Given the description of an element on the screen output the (x, y) to click on. 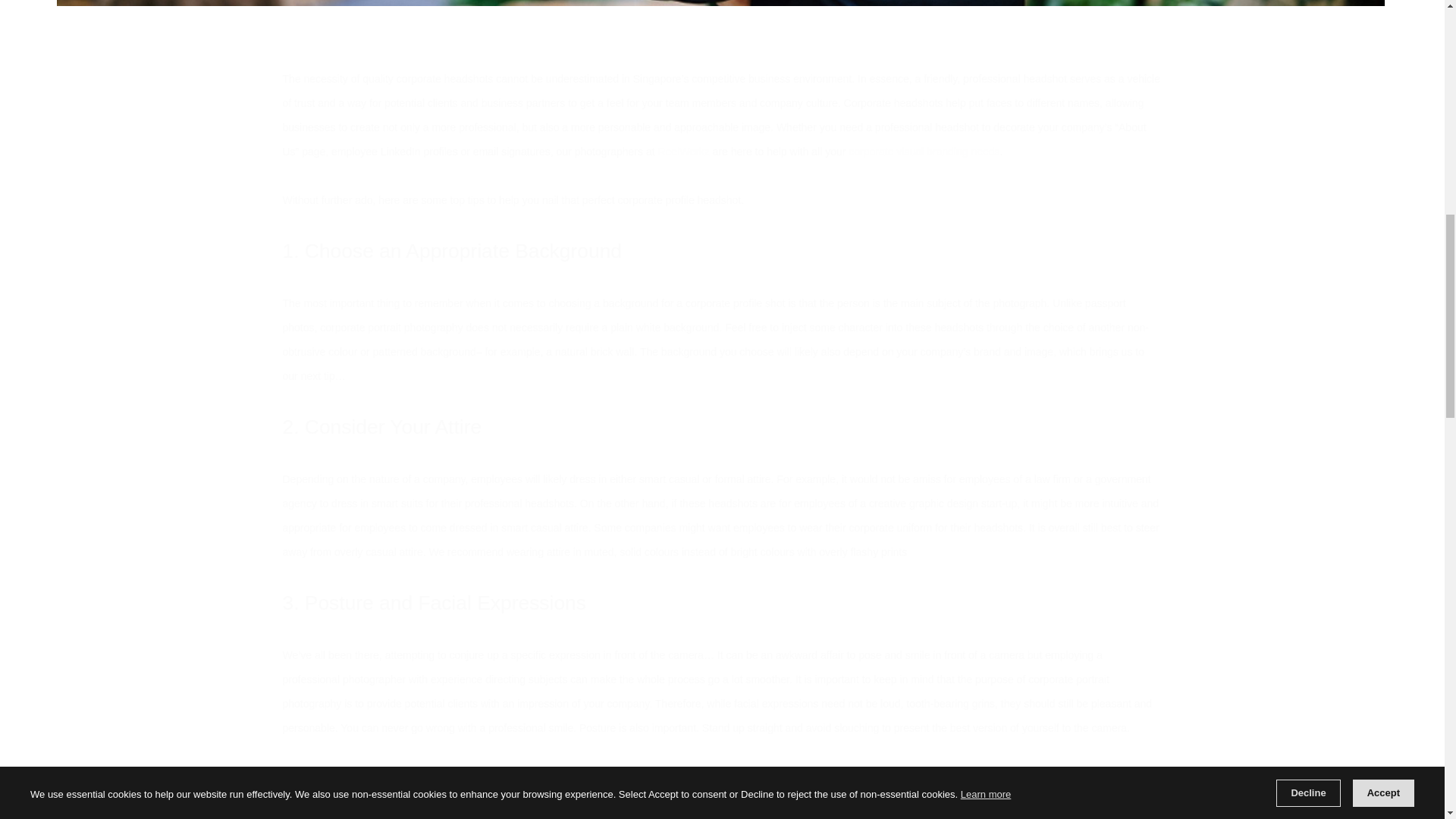
ReelWerkz (683, 151)
corporate visual branding needs (923, 151)
